Given the description of an element on the screen output the (x, y) to click on. 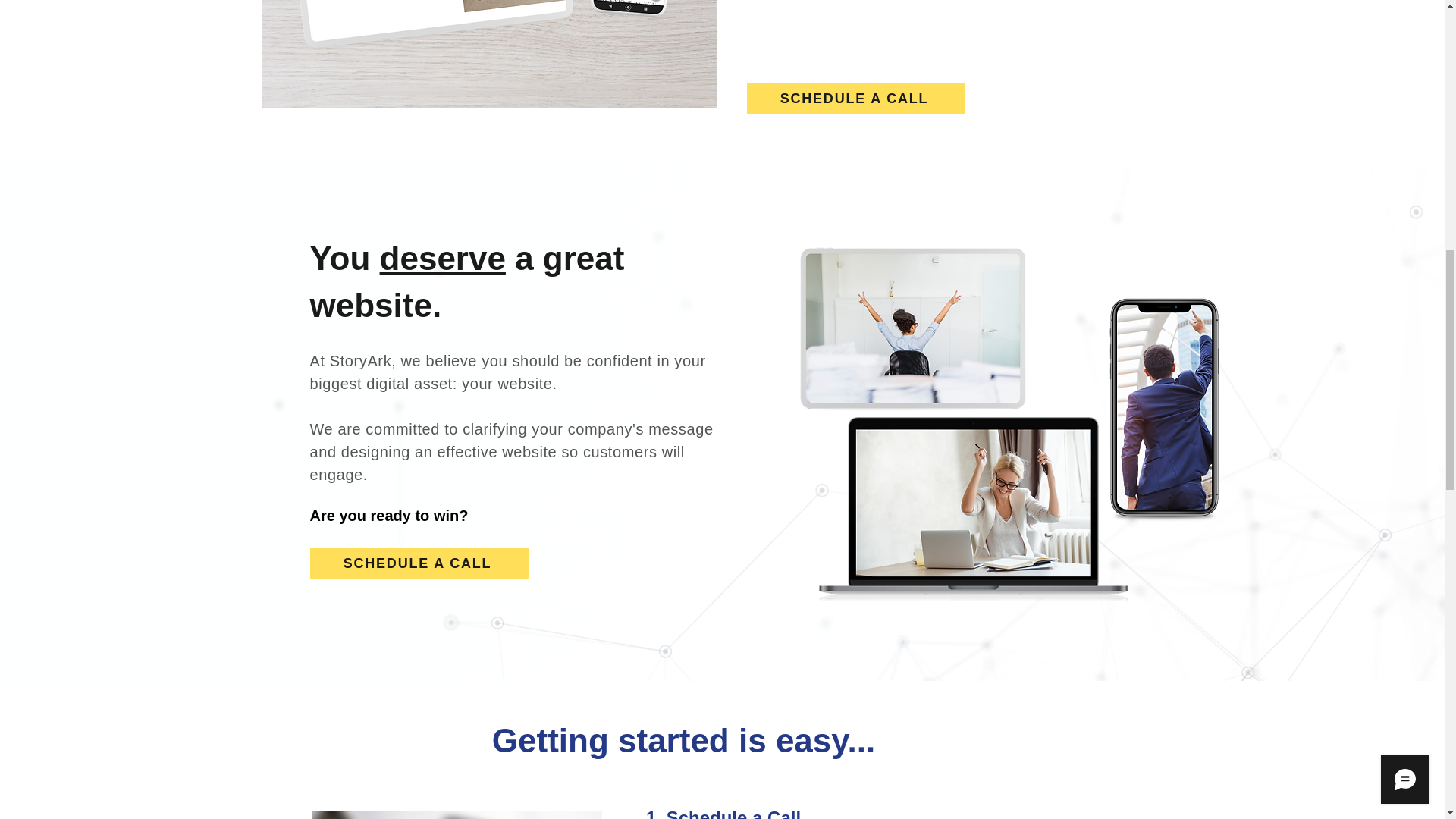
SCHEDULE A CALL (854, 98)
SCHEDULE A CALL (417, 562)
